Given the description of an element on the screen output the (x, y) to click on. 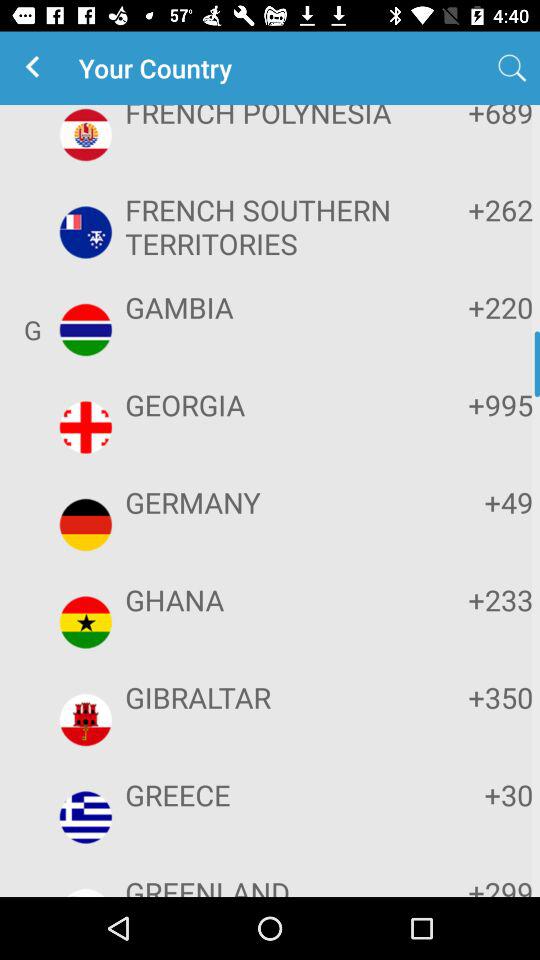
click the icon below the gibraltar item (267, 794)
